Given the description of an element on the screen output the (x, y) to click on. 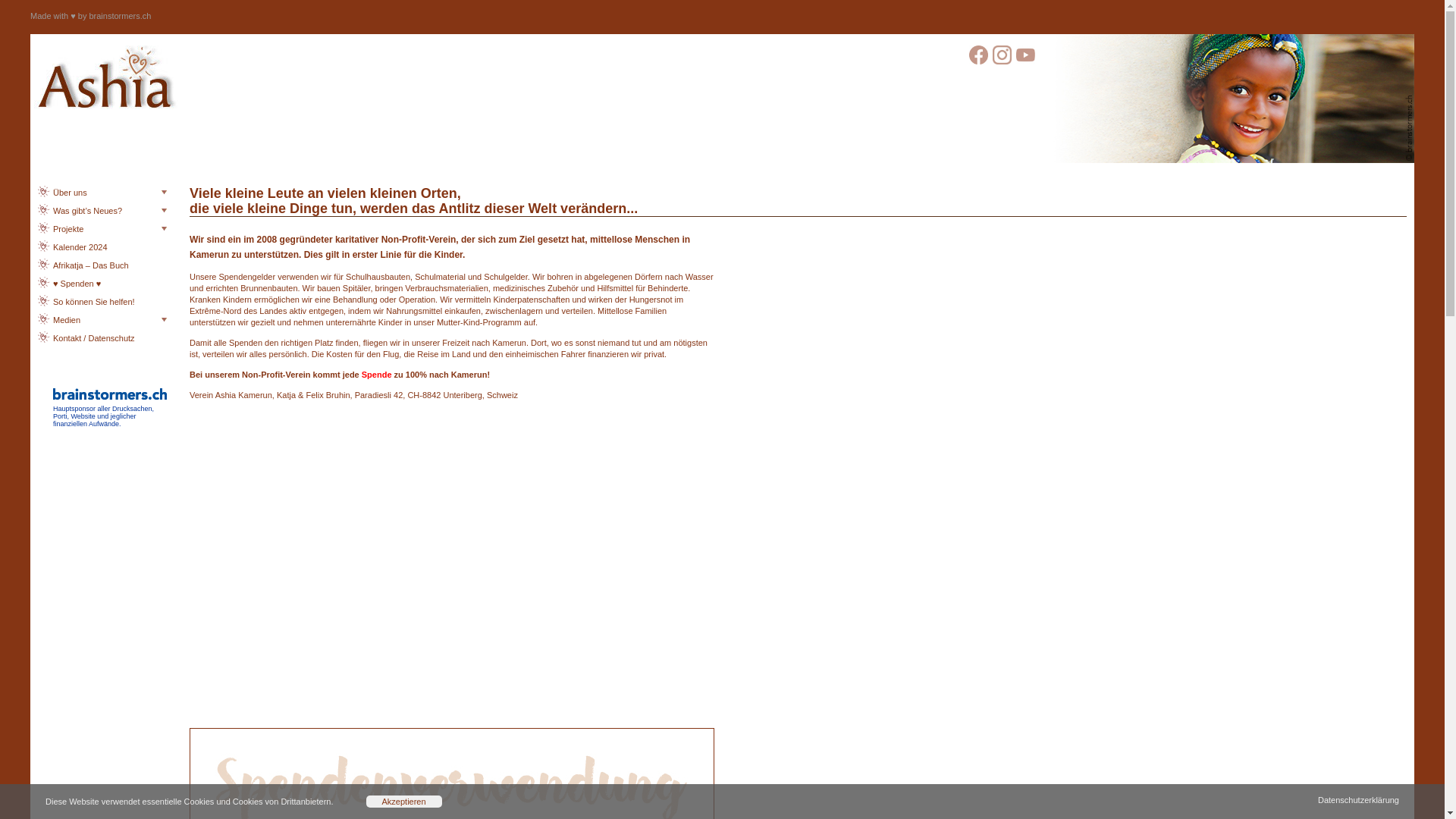
Kalender 2024 Element type: text (98, 242)
Medien Element type: text (98, 315)
Kontakt / Datenschutz Element type: text (98, 333)
    Element type: text (1003, 60)
Spende Element type: text (376, 374)
YouTube video player Element type: hover (450, 561)
Projekte Element type: text (98, 224)
Akzeptieren Element type: text (404, 801)
